Given the description of an element on the screen output the (x, y) to click on. 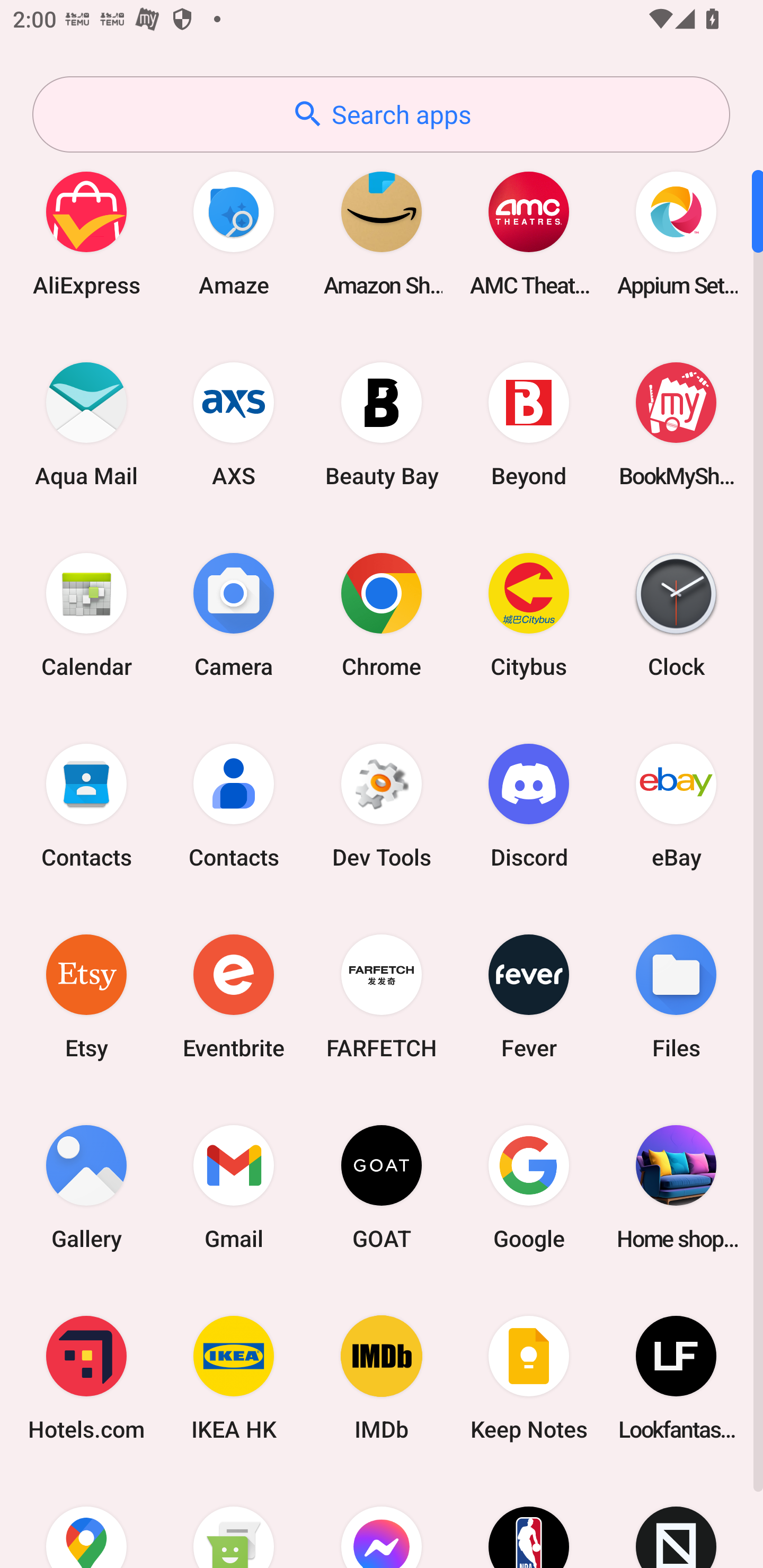
  Search apps (381, 114)
AliExpress (86, 233)
Amaze (233, 233)
Amazon Shopping (381, 233)
AMC Theatres (528, 233)
Appium Settings (676, 233)
Aqua Mail (86, 424)
AXS (233, 424)
Beauty Bay (381, 424)
Beyond (528, 424)
BookMyShow (676, 424)
Calendar (86, 614)
Camera (233, 614)
Chrome (381, 614)
Citybus (528, 614)
Clock (676, 614)
Contacts (86, 805)
Contacts (233, 805)
Dev Tools (381, 805)
Discord (528, 805)
eBay (676, 805)
Etsy (86, 996)
Eventbrite (233, 996)
FARFETCH (381, 996)
Fever (528, 996)
Files (676, 996)
Gallery (86, 1186)
Gmail (233, 1186)
GOAT (381, 1186)
Google (528, 1186)
Home shopping (676, 1186)
Hotels.com (86, 1377)
IKEA HK (233, 1377)
IMDb (381, 1377)
Keep Notes (528, 1377)
Lookfantastic (676, 1377)
